Given the description of an element on the screen output the (x, y) to click on. 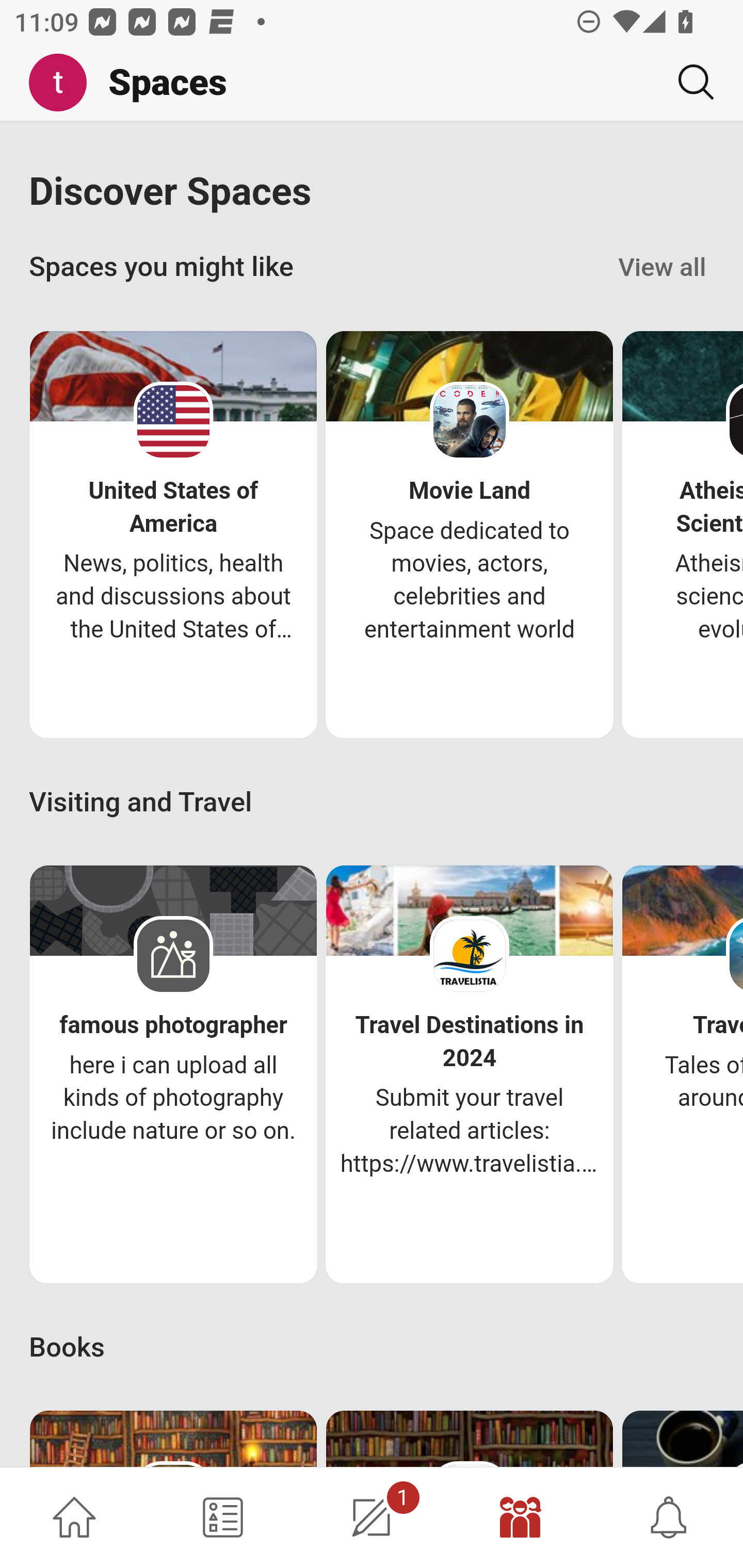
Me (64, 83)
Search (688, 82)
View all (662, 268)
United States of America (173, 506)
Movie Land (469, 491)
famous photographer (173, 1025)
Travel Destinations in 2024 (469, 1041)
1 (371, 1517)
